Given the description of an element on the screen output the (x, y) to click on. 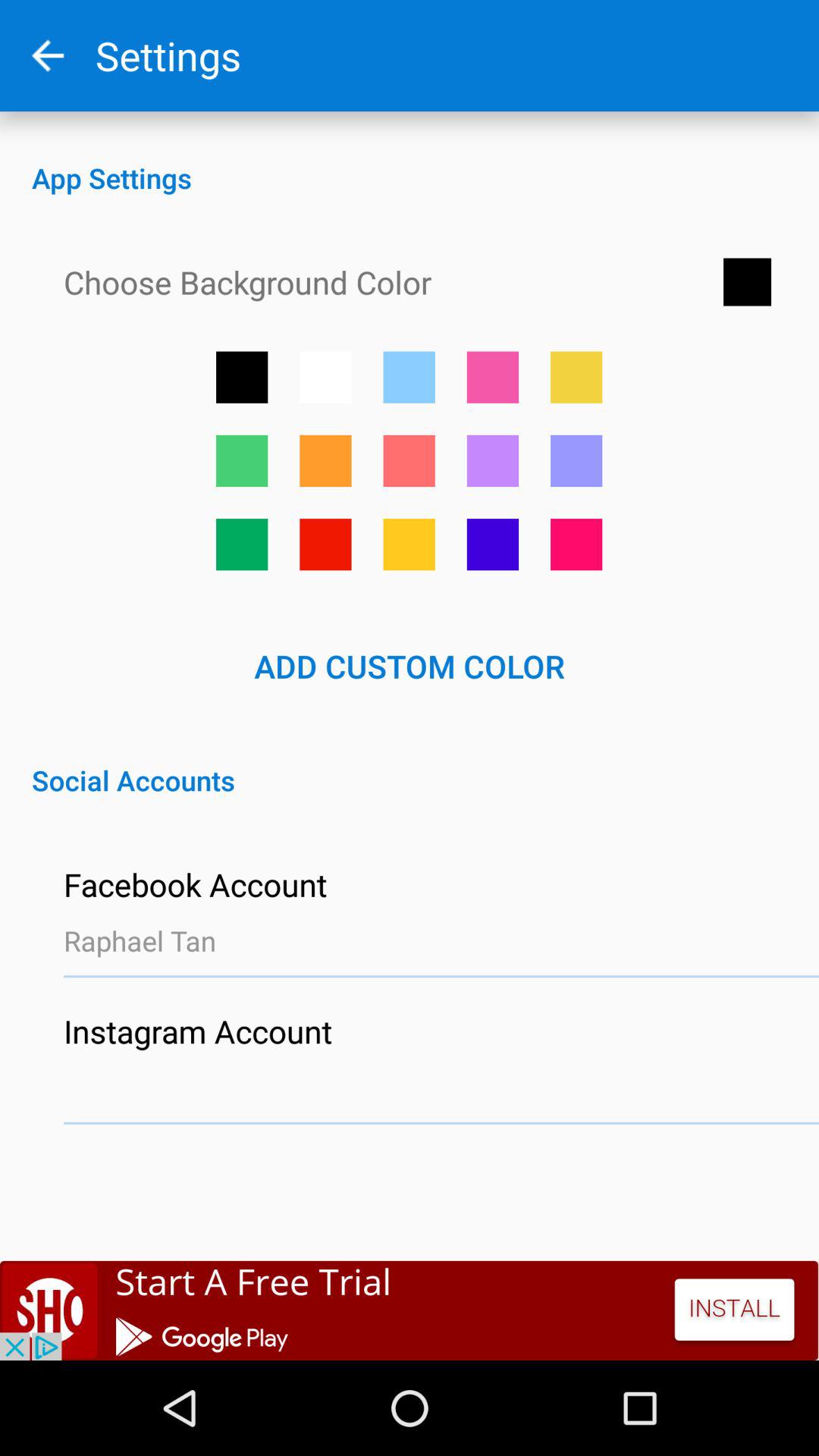
select the add the custom color in the screen (492, 377)
